Given the description of an element on the screen output the (x, y) to click on. 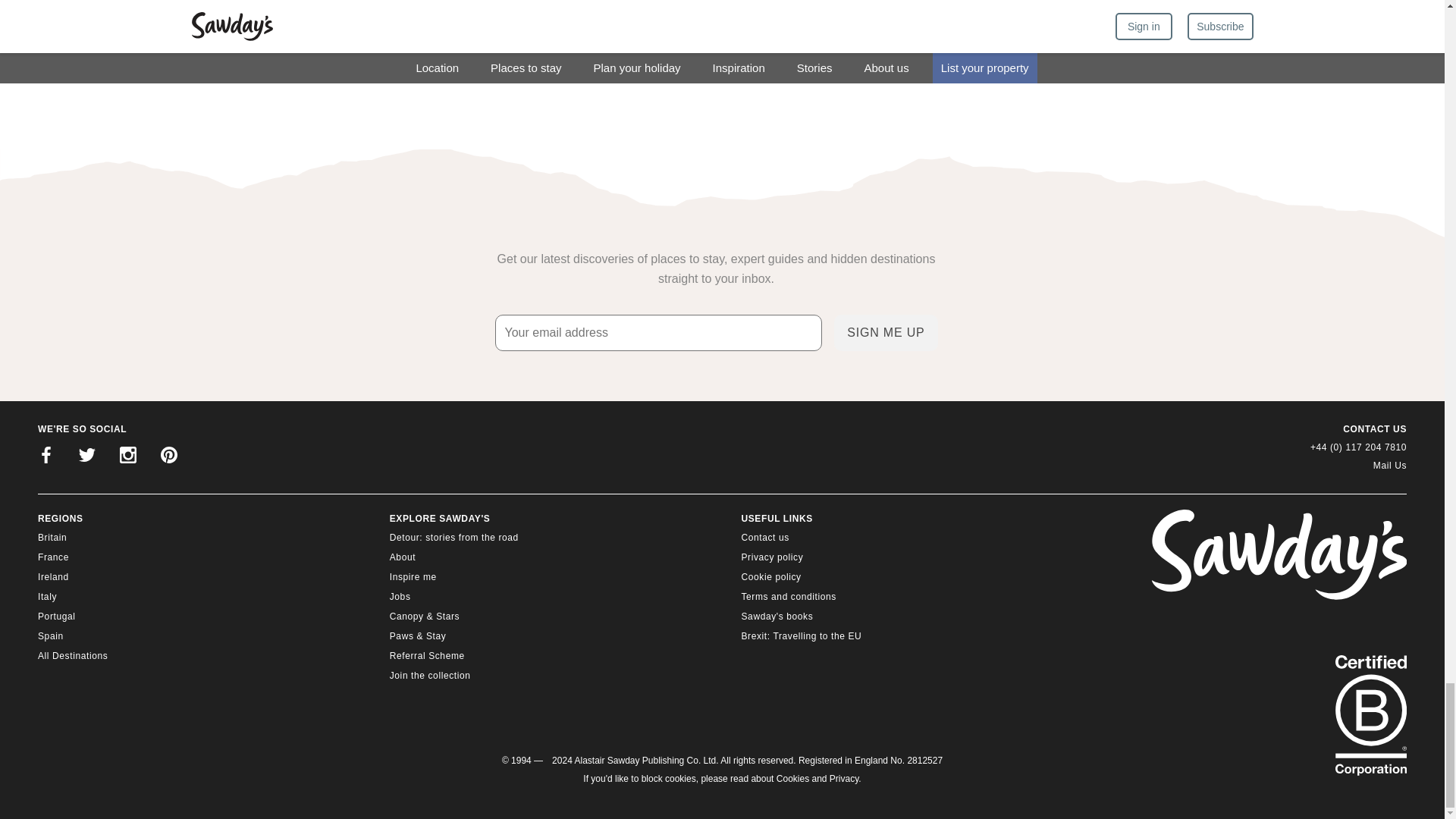
Pinterest (168, 457)
Facebook (46, 457)
SIGN ME UP (885, 332)
Twitter (86, 457)
Instagram (127, 457)
